Given the description of an element on the screen output the (x, y) to click on. 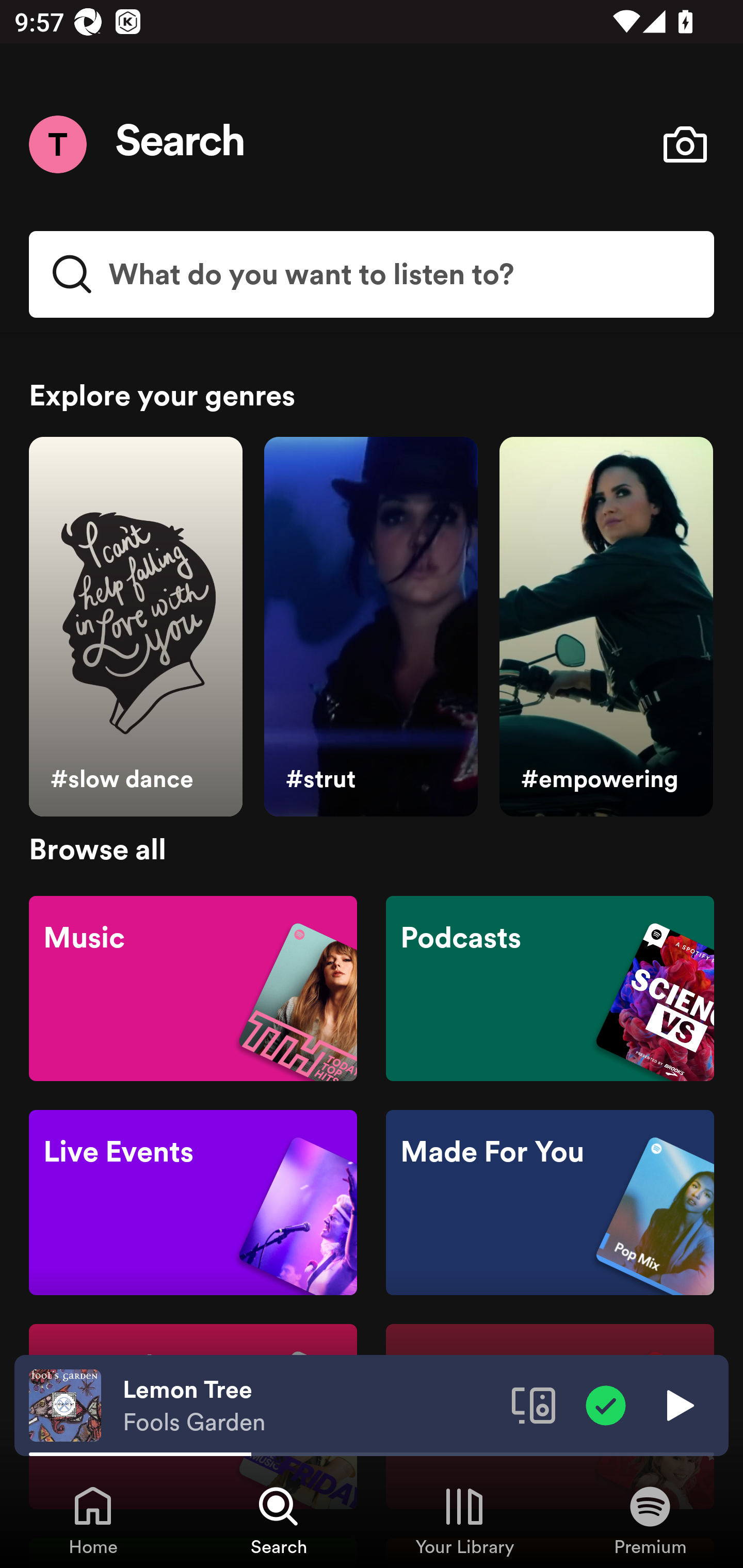
Menu (57, 144)
Open camera (685, 145)
Search (180, 144)
#slow dance (135, 626)
#strut (370, 626)
#empowering (606, 626)
Music (192, 987)
Podcasts (549, 987)
Live Events (192, 1202)
Made For You (549, 1202)
Lemon Tree Fools Garden (309, 1405)
The cover art of the currently playing track (64, 1404)
Connect to a device. Opens the devices menu (533, 1404)
Item added (605, 1404)
Play (677, 1404)
Home, Tab 1 of 4 Home Home (92, 1519)
Search, Tab 2 of 4 Search Search (278, 1519)
Your Library, Tab 3 of 4 Your Library Your Library (464, 1519)
Premium, Tab 4 of 4 Premium Premium (650, 1519)
